Given the description of an element on the screen output the (x, y) to click on. 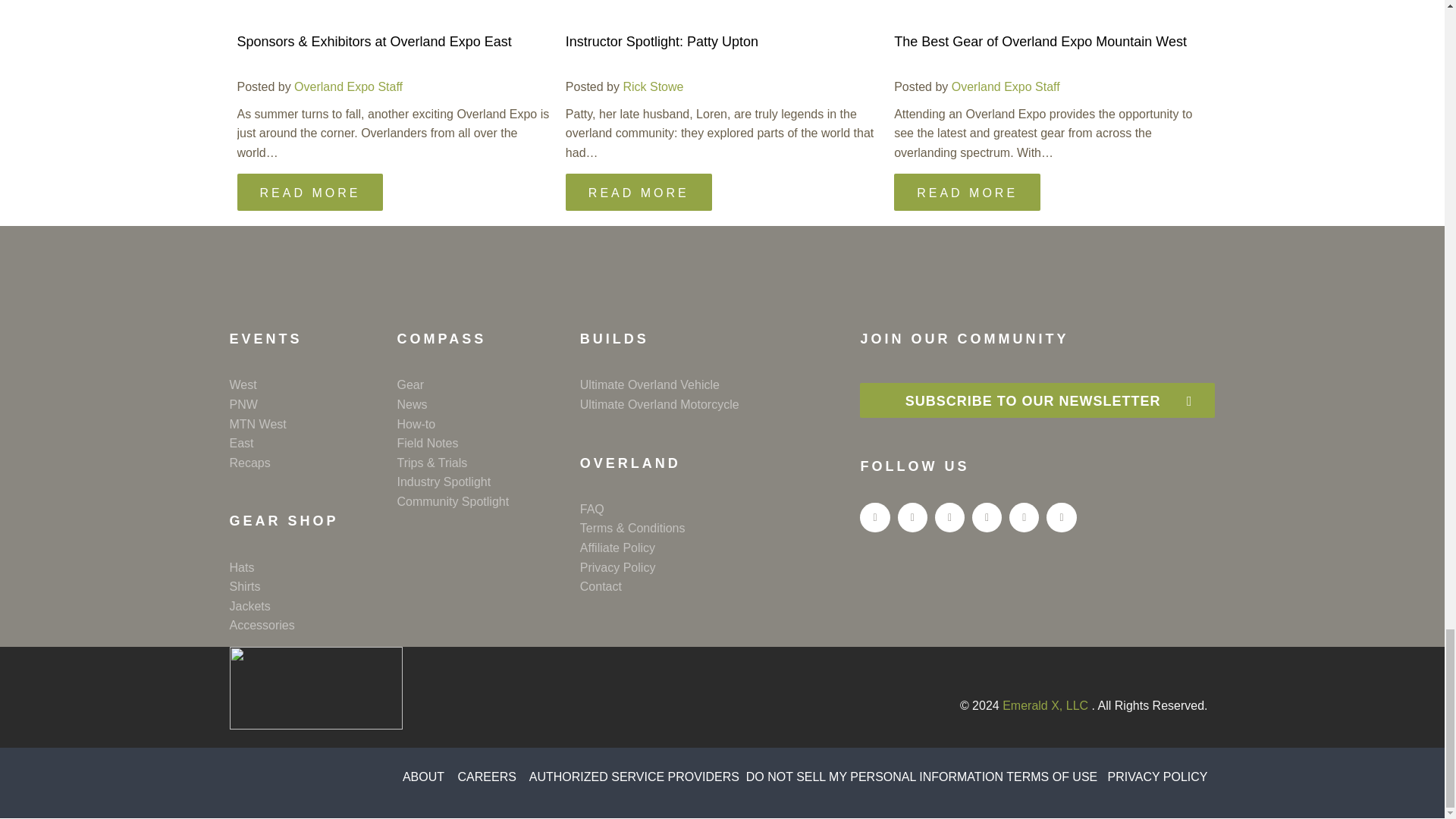
Rick Stowe (652, 86)
Instructor Spotlight: Patty Upton (662, 41)
READ MORE (638, 191)
The Best Gear of Overland Expo Mountain West (1039, 41)
Overland Expo Staff (1005, 86)
West (312, 384)
READ MORE (308, 191)
READ MORE (967, 191)
Overland Expo Staff (348, 86)
